Given the description of an element on the screen output the (x, y) to click on. 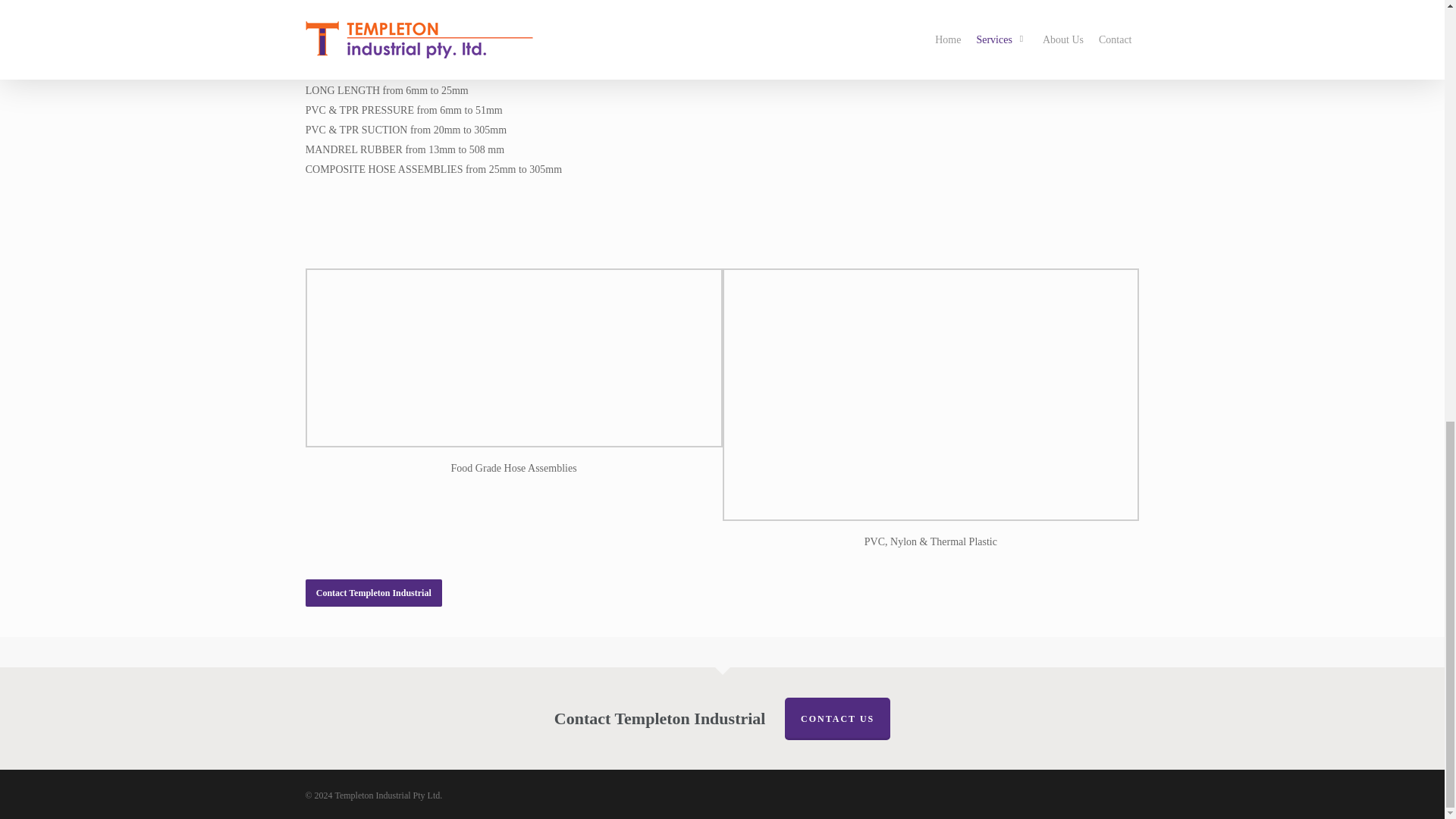
Contact Templeton Industrial (373, 592)
CONTACT US (836, 718)
